Given the description of an element on the screen output the (x, y) to click on. 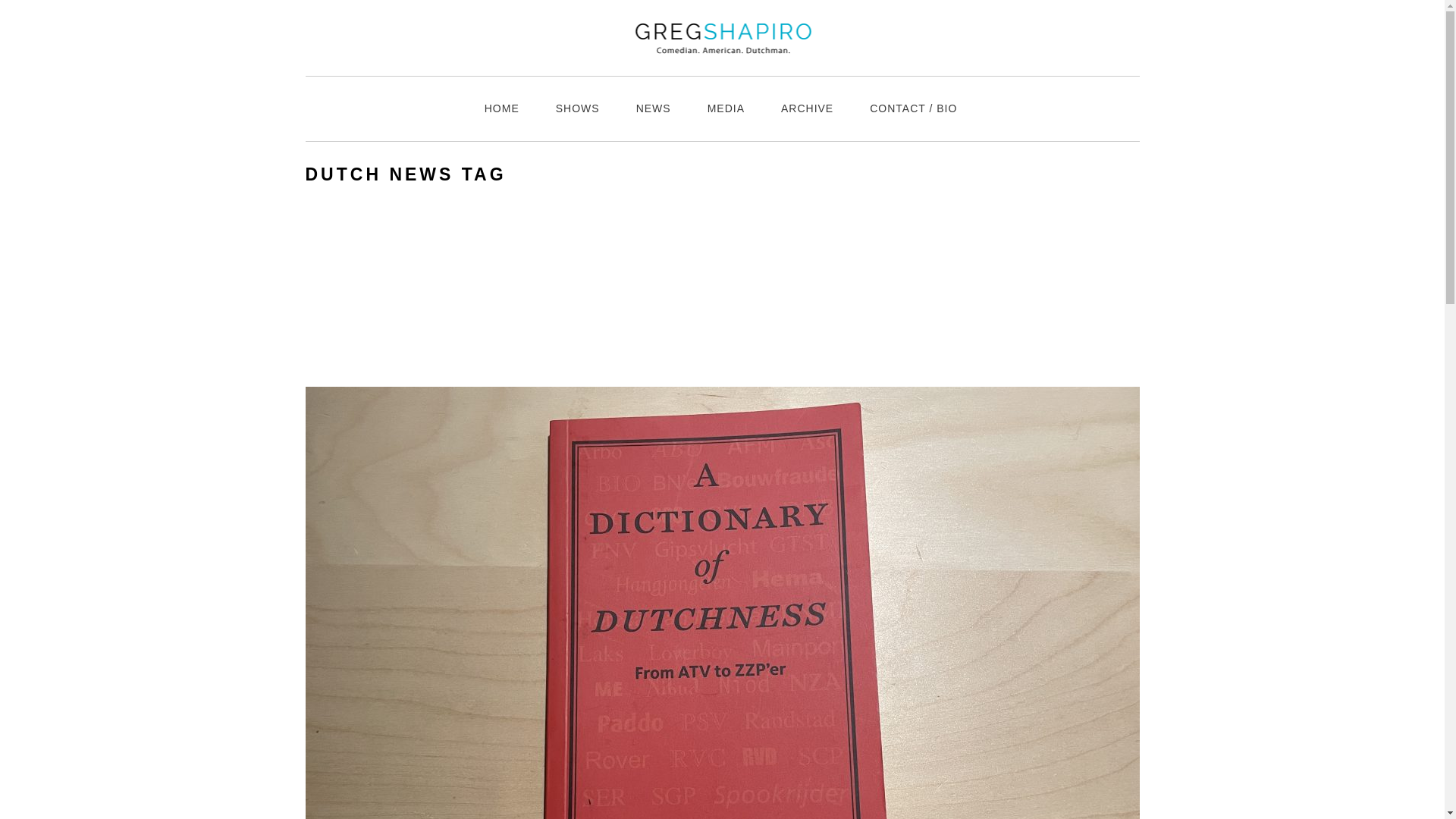
SHOWS (577, 108)
MEDIA (725, 108)
HOME (501, 108)
ARCHIVE (806, 108)
NEWS (652, 108)
